Given the description of an element on the screen output the (x, y) to click on. 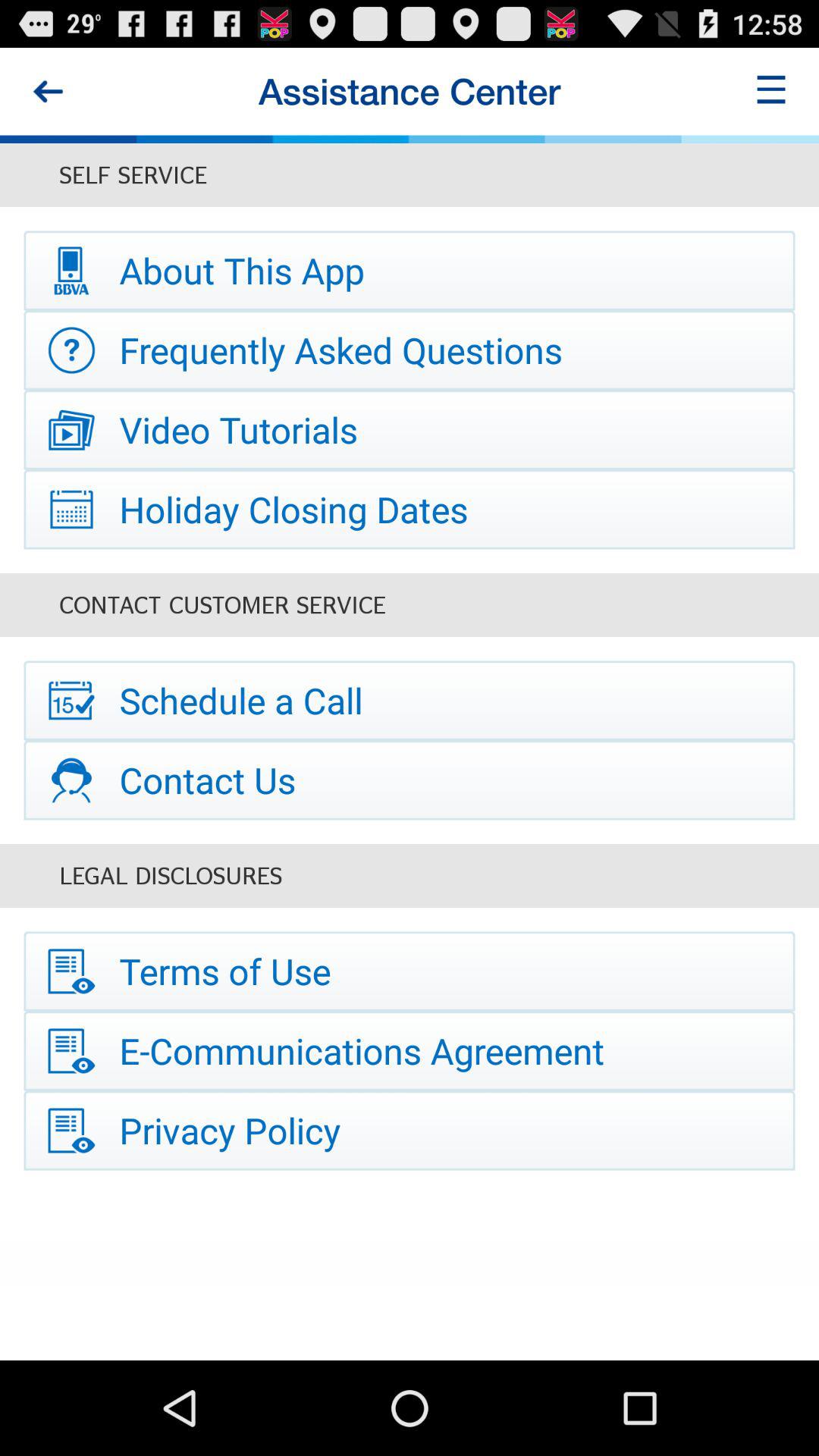
turn off the item below the contact customer service (409, 700)
